Given the description of an element on the screen output the (x, y) to click on. 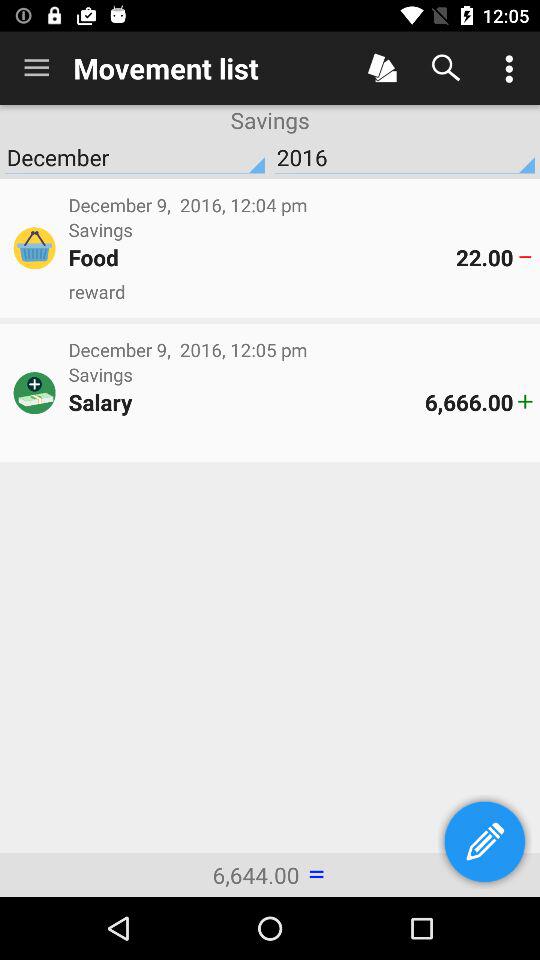
press item next to movement list (36, 68)
